Given the description of an element on the screen output the (x, y) to click on. 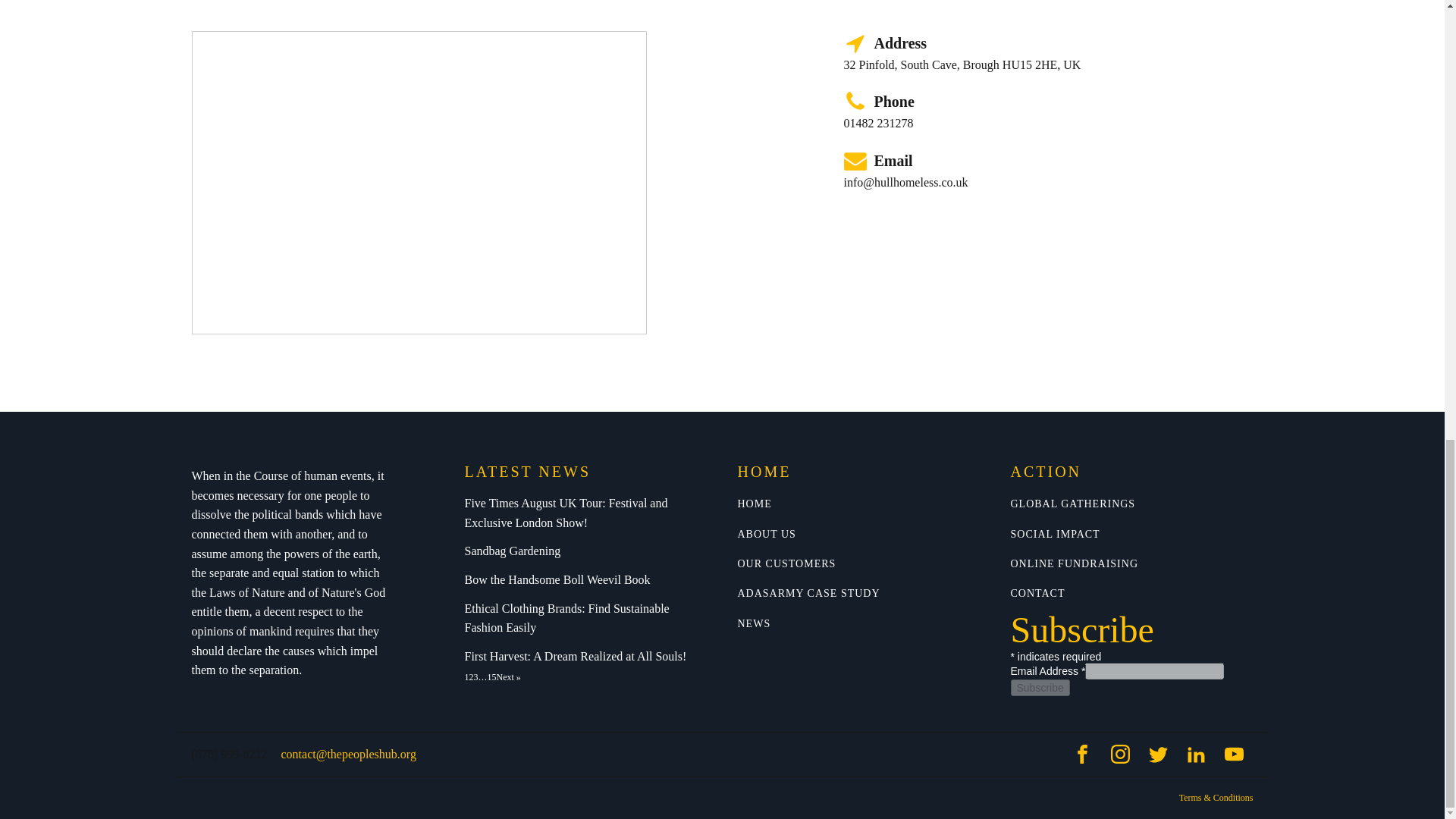
First Harvest: A Dream Realized at All Souls! (574, 656)
ABOUT US (765, 533)
Subscribe (1039, 687)
Bow the Handsome Boll Weevil Book (556, 579)
OUR CUSTOMERS (785, 563)
Subscribe (1039, 687)
NEWS (753, 623)
CONTACT (1037, 593)
3 (475, 677)
ONLINE FUNDRAISING (1074, 563)
GLOBAL GATHERINGS (1072, 503)
ADASARMY CASE STUDY (807, 593)
Ethical Clothing Brands: Find Sustainable Fashion Easily (585, 618)
SOCIAL IMPACT (1054, 533)
